Given the description of an element on the screen output the (x, y) to click on. 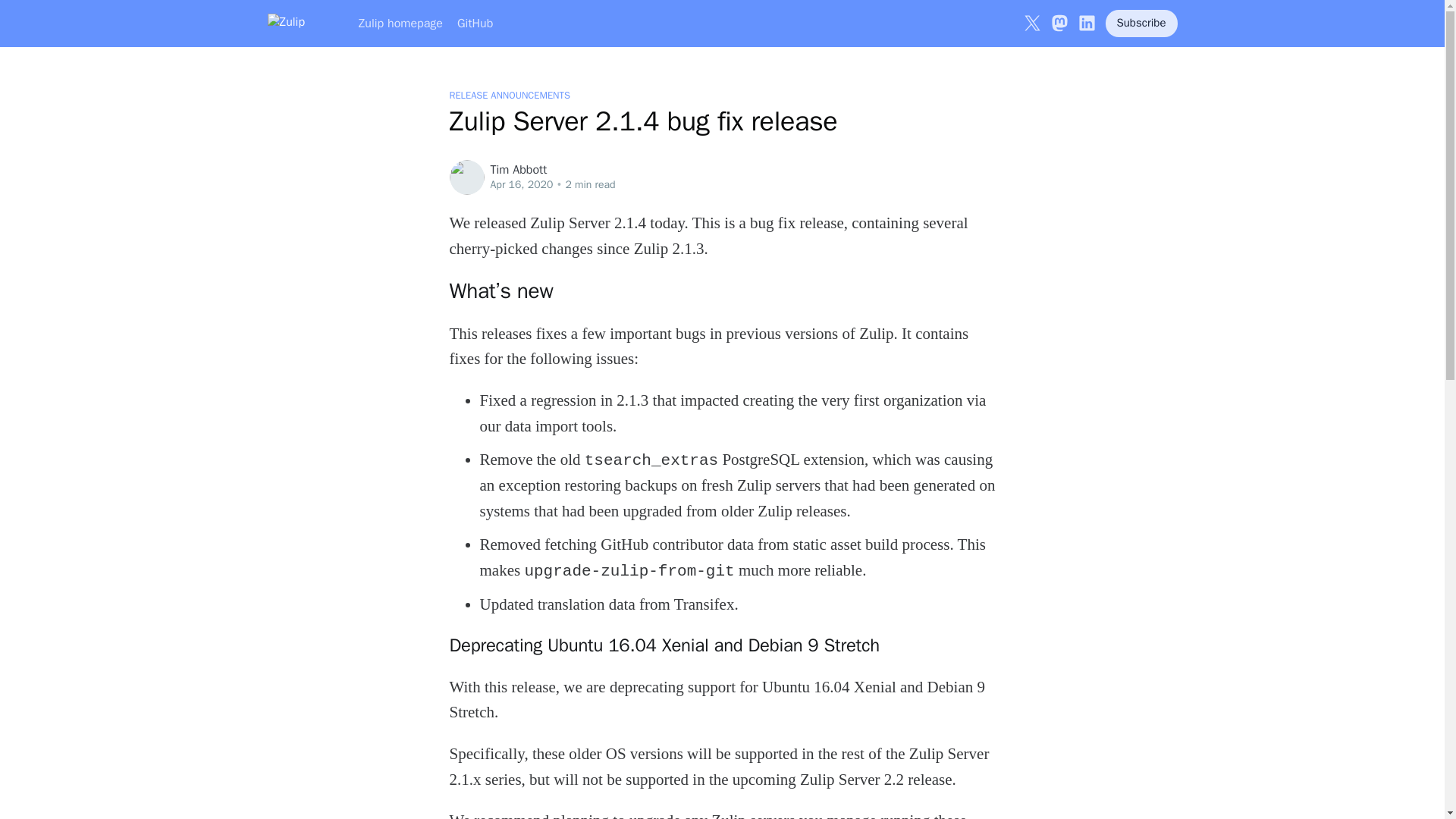
Subscribe (1141, 22)
Zulip homepage (400, 23)
RELEASE ANNOUNCEMENTS (508, 95)
GitHub (475, 23)
Tim Abbott (741, 170)
